Given the description of an element on the screen output the (x, y) to click on. 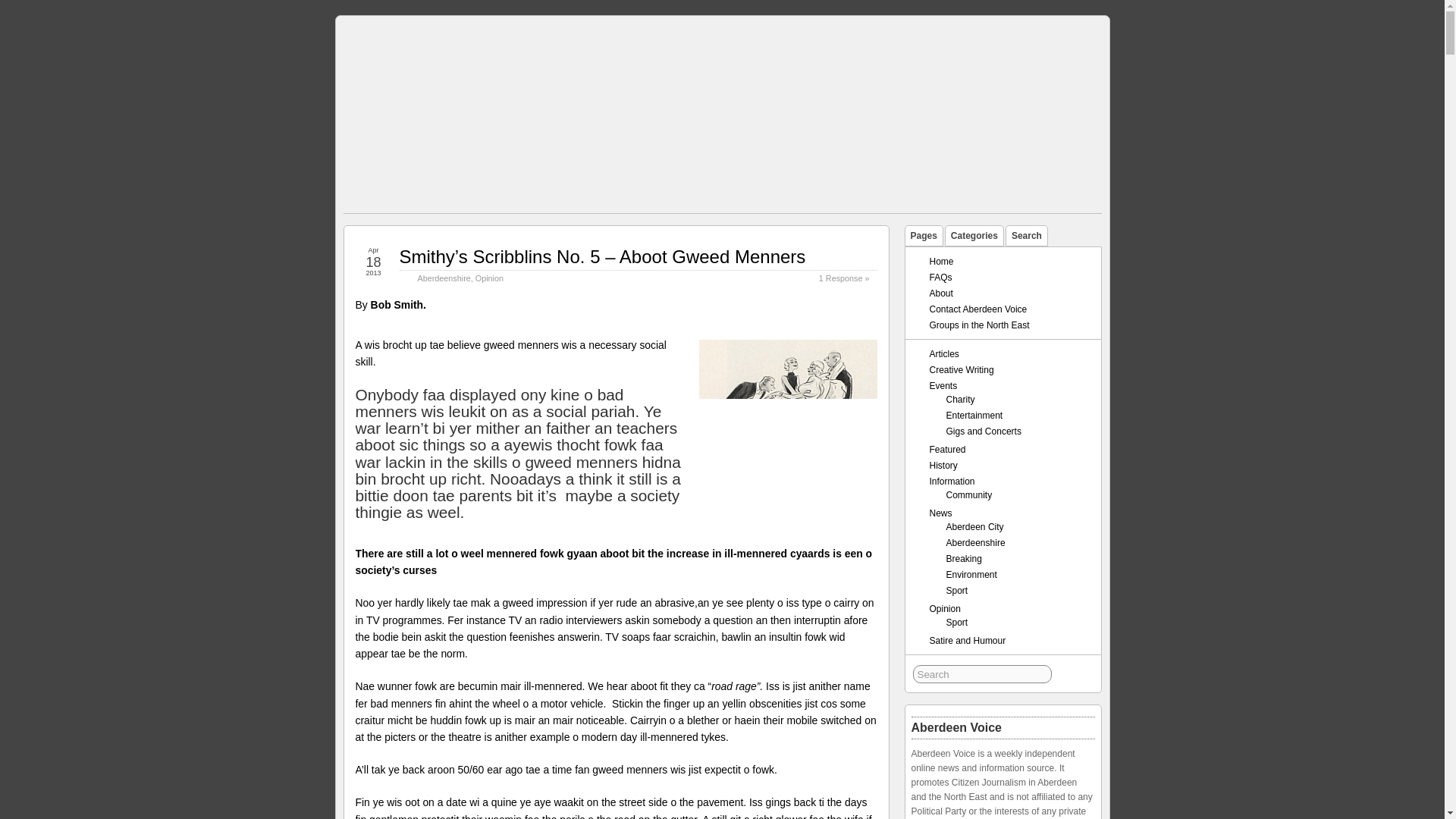
Search (981, 674)
Search (981, 674)
Opinion (489, 277)
Aberdeenshire (443, 277)
manners (789, 430)
